Given the description of an element on the screen output the (x, y) to click on. 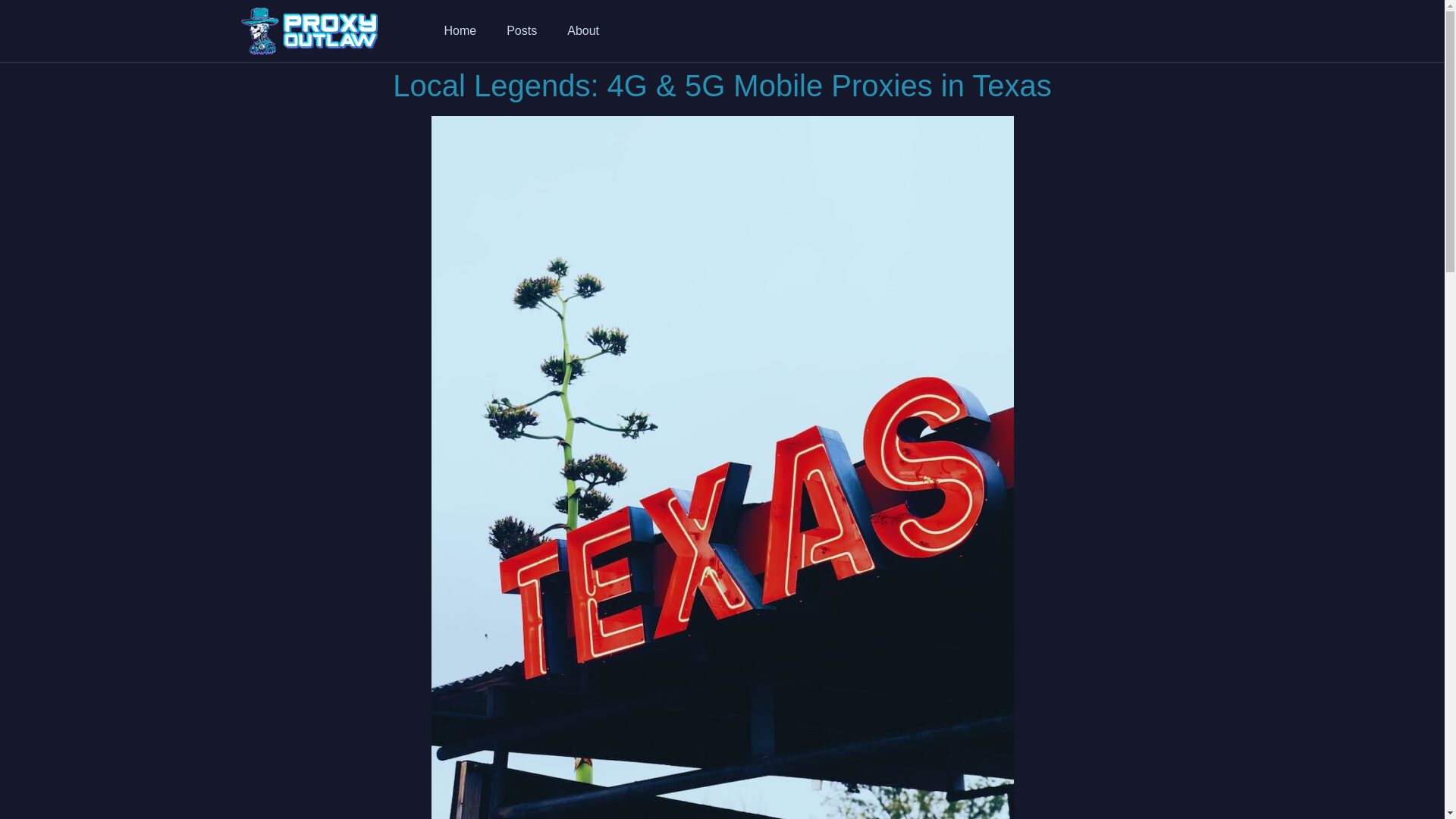
About (582, 30)
Posts (521, 30)
Home (460, 30)
